Given the description of an element on the screen output the (x, y) to click on. 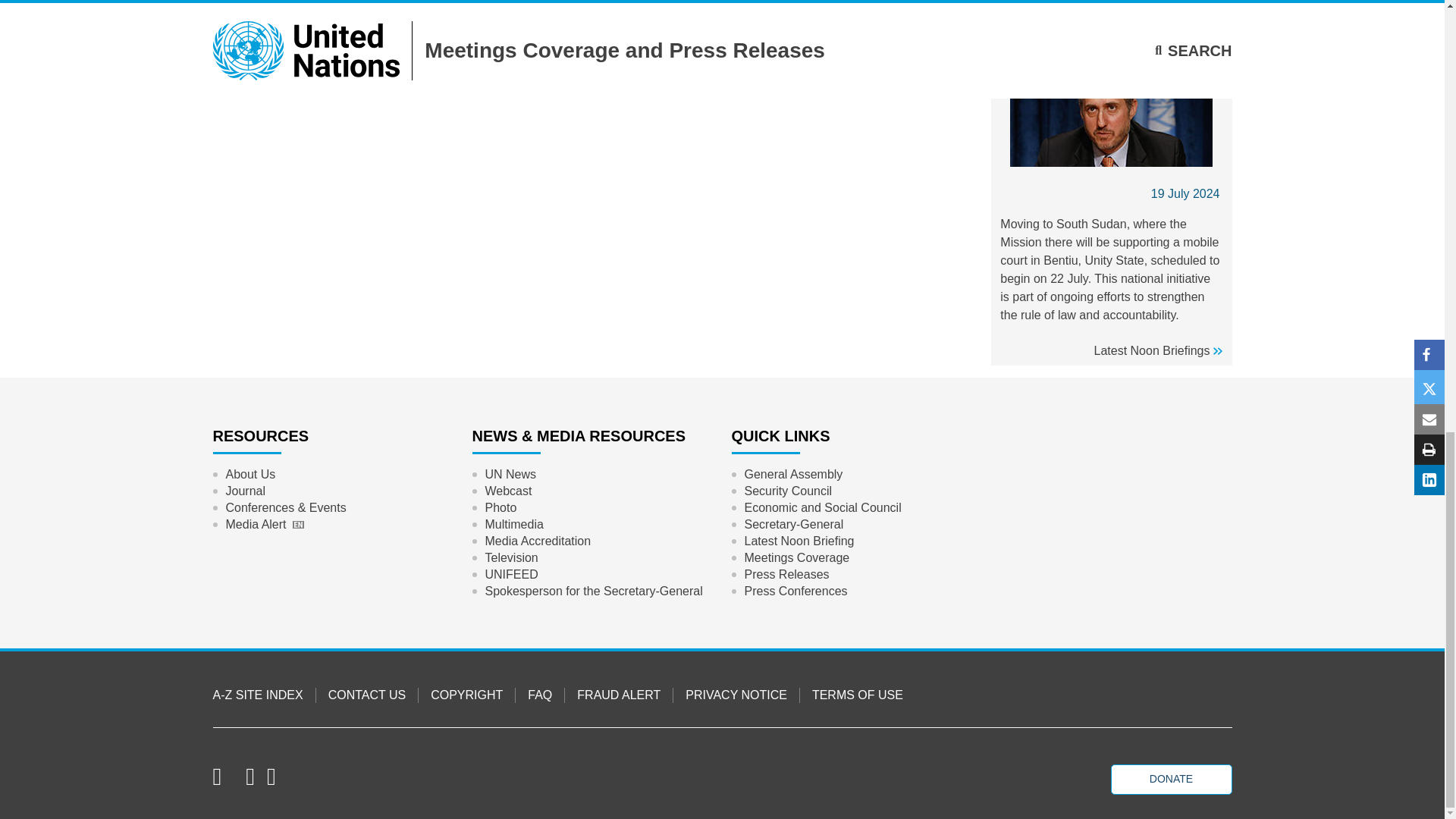
UNIFEED (510, 574)
General Assembly section link (792, 474)
Webcast (507, 491)
Journal (244, 491)
Television (510, 557)
Global perspective Human stories (510, 474)
Spokesperson for the Secretary-General (593, 591)
ECOSOC section link (821, 507)
Security Council section link (787, 491)
Photo (499, 507)
Link to English About Us Page (250, 474)
Media Alert (264, 524)
Media Accreditation (537, 541)
Multimedia (513, 524)
